Given the description of an element on the screen output the (x, y) to click on. 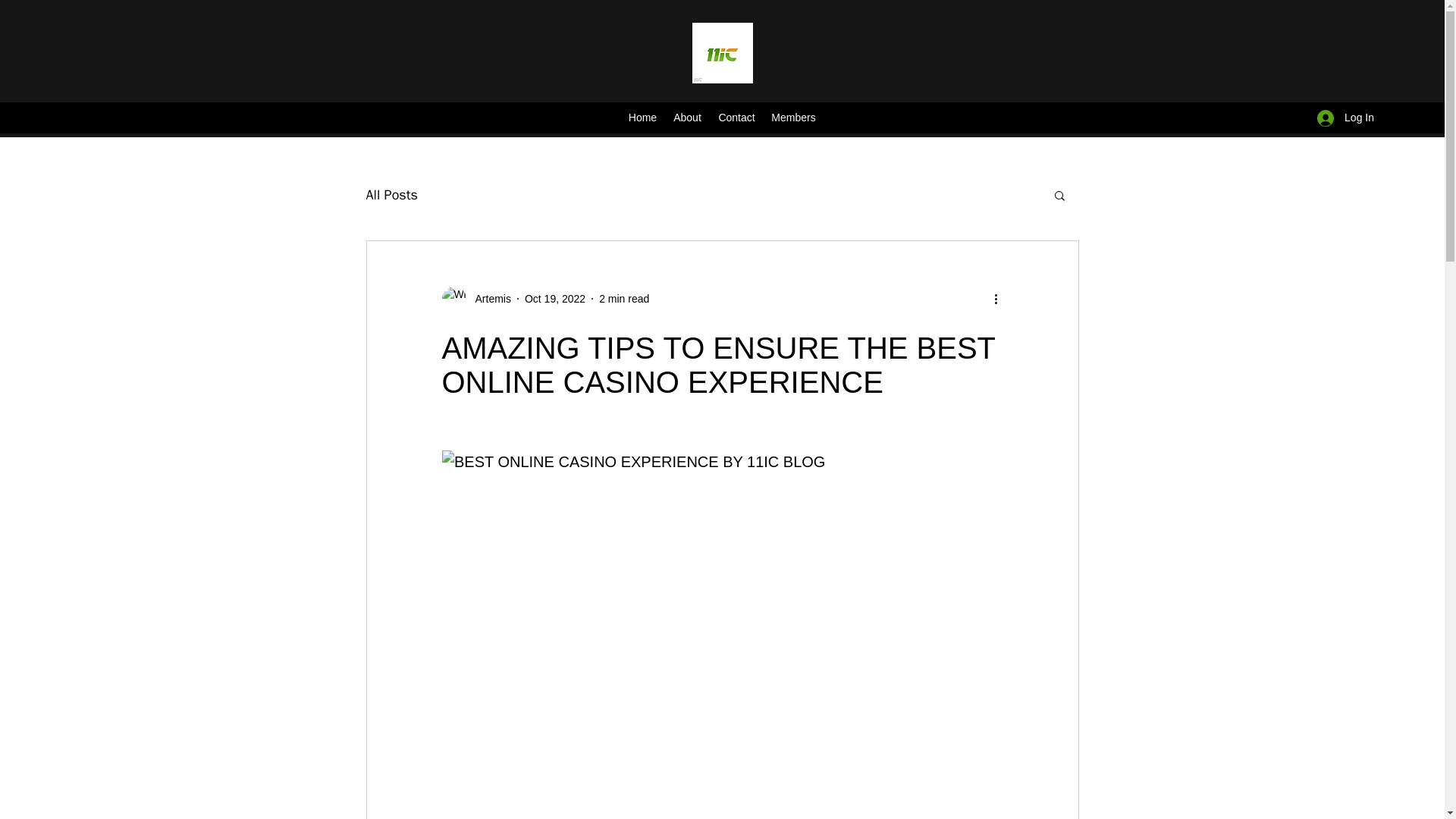
Members (793, 117)
Artemis (476, 298)
About (686, 117)
Home (641, 117)
Log In (1345, 117)
All Posts (390, 194)
2 min read (623, 298)
Oct 19, 2022 (554, 298)
Artemis  (488, 299)
Contact (736, 117)
